Given the description of an element on the screen output the (x, y) to click on. 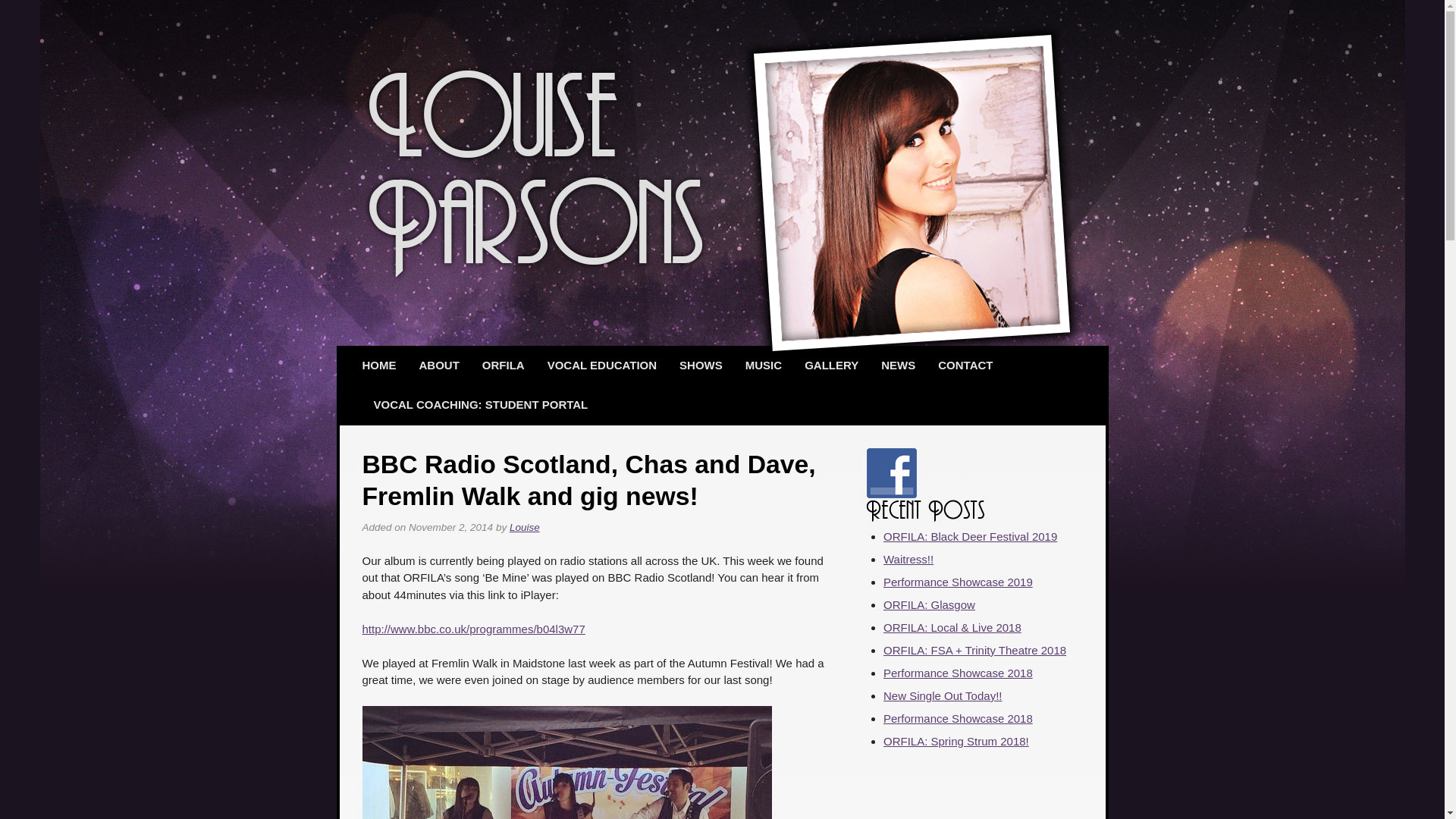
ORFILA (502, 365)
Performance Showcase 2018 (957, 717)
MUSIC (763, 365)
Performance Showcase 2018 (957, 672)
Waitress!! (908, 558)
HOME (378, 365)
Louise Parsons (536, 171)
CONTACT (965, 365)
VOCAL EDUCATION (601, 365)
GALLERY (831, 365)
VOCAL COACHING: STUDENT PORTAL (480, 404)
ABOUT (438, 365)
ORFILA: Black Deer Festival 2019 (970, 535)
ORFILA: Glasgow (929, 604)
Performance Showcase 2019 (957, 581)
